Given the description of an element on the screen output the (x, y) to click on. 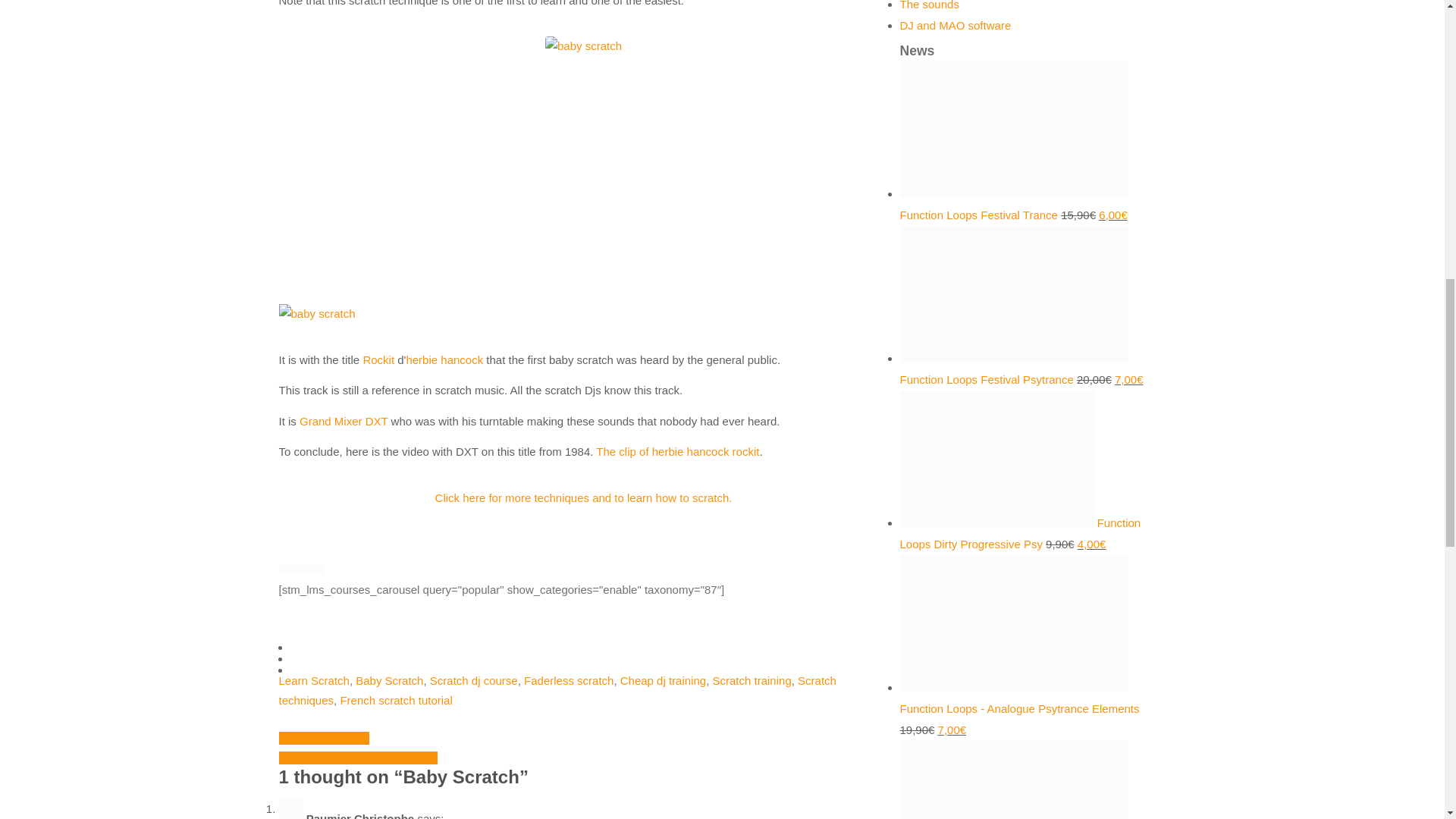
5 Stars (319, 569)
3 Stars (301, 569)
2 Stars (292, 569)
1 Star (283, 569)
4 Stars (310, 569)
